Given the description of an element on the screen output the (x, y) to click on. 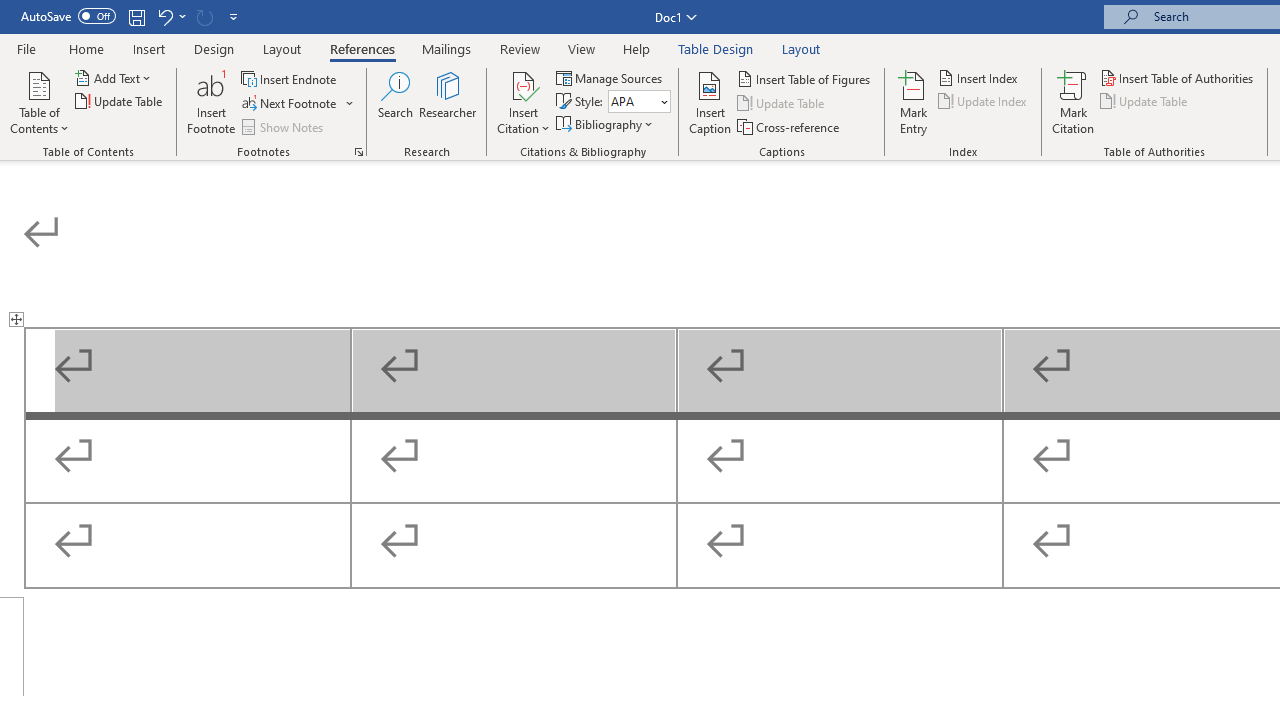
Update Table... (119, 101)
Can't Repeat (204, 15)
Insert Index... (979, 78)
Update Table (1145, 101)
Undo Outline Move Up (170, 15)
Mark Citation... (1072, 102)
Update Index (984, 101)
Style (632, 101)
Next Footnote (290, 103)
Bibliography (606, 124)
